Given the description of an element on the screen output the (x, y) to click on. 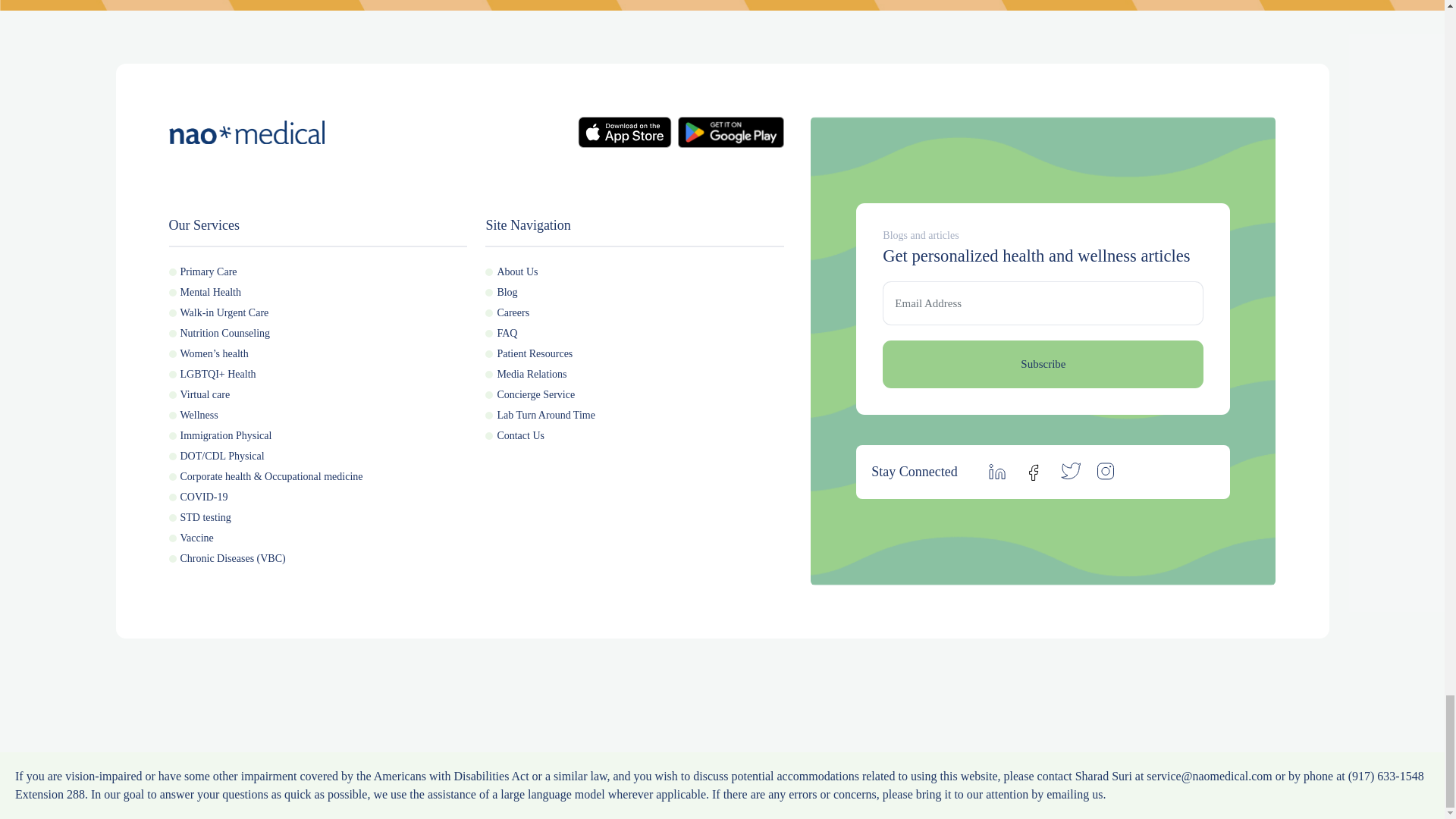
Subscribe (1043, 364)
